Given the description of an element on the screen output the (x, y) to click on. 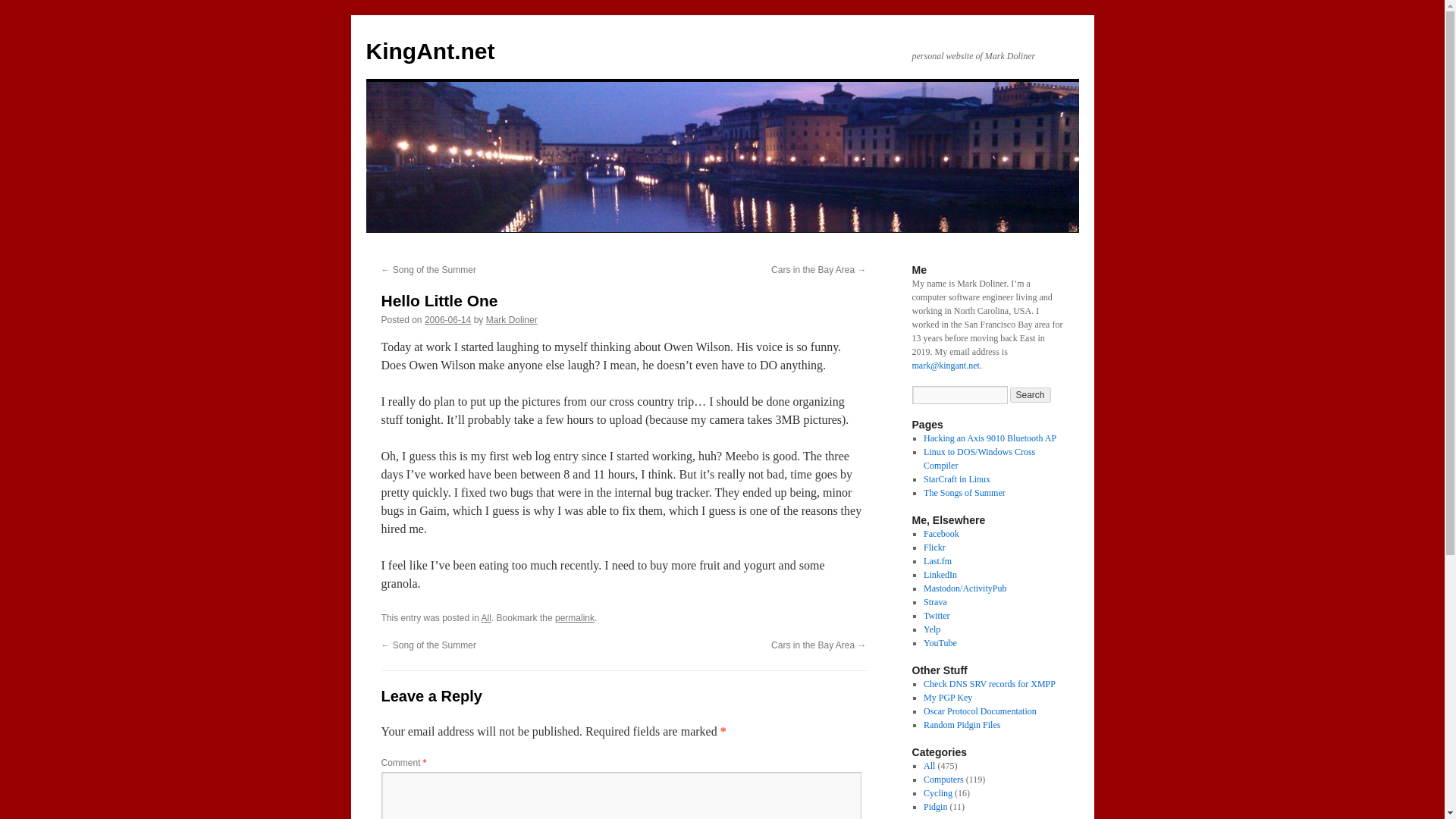
2006-06-14 (447, 319)
YouTube (939, 643)
Search (1030, 394)
Twitter (936, 615)
All (928, 765)
permalink (574, 617)
11:06 pm (447, 319)
Check DNS SRV records for XMPP (989, 683)
LinkedIn (939, 574)
Yelp (931, 629)
